Given the description of an element on the screen output the (x, y) to click on. 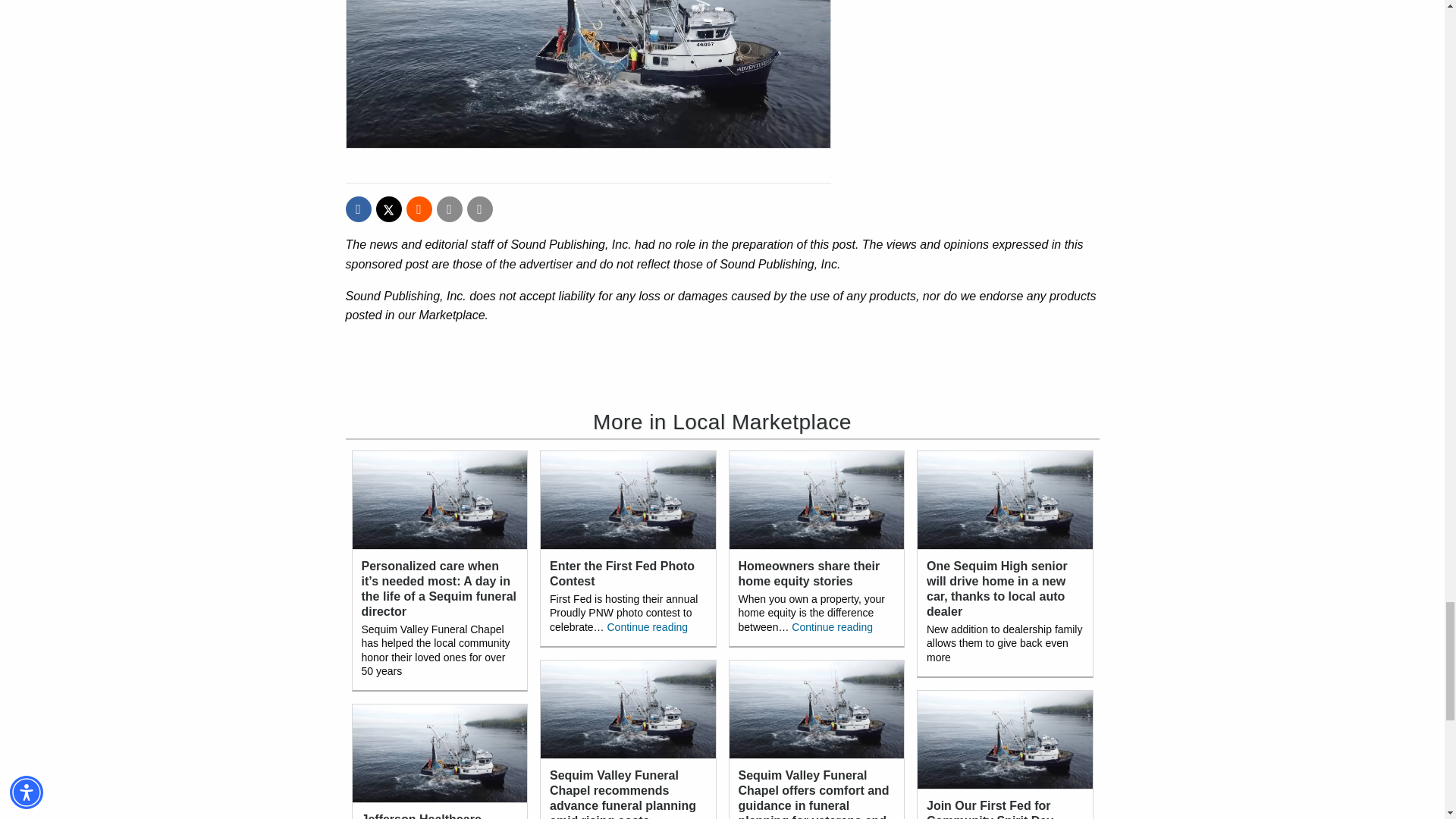
Post to Reddit (419, 208)
Print story (480, 208)
Email story (449, 208)
Post to Facebook (358, 208)
Post to Twitter (388, 208)
